Given the description of an element on the screen output the (x, y) to click on. 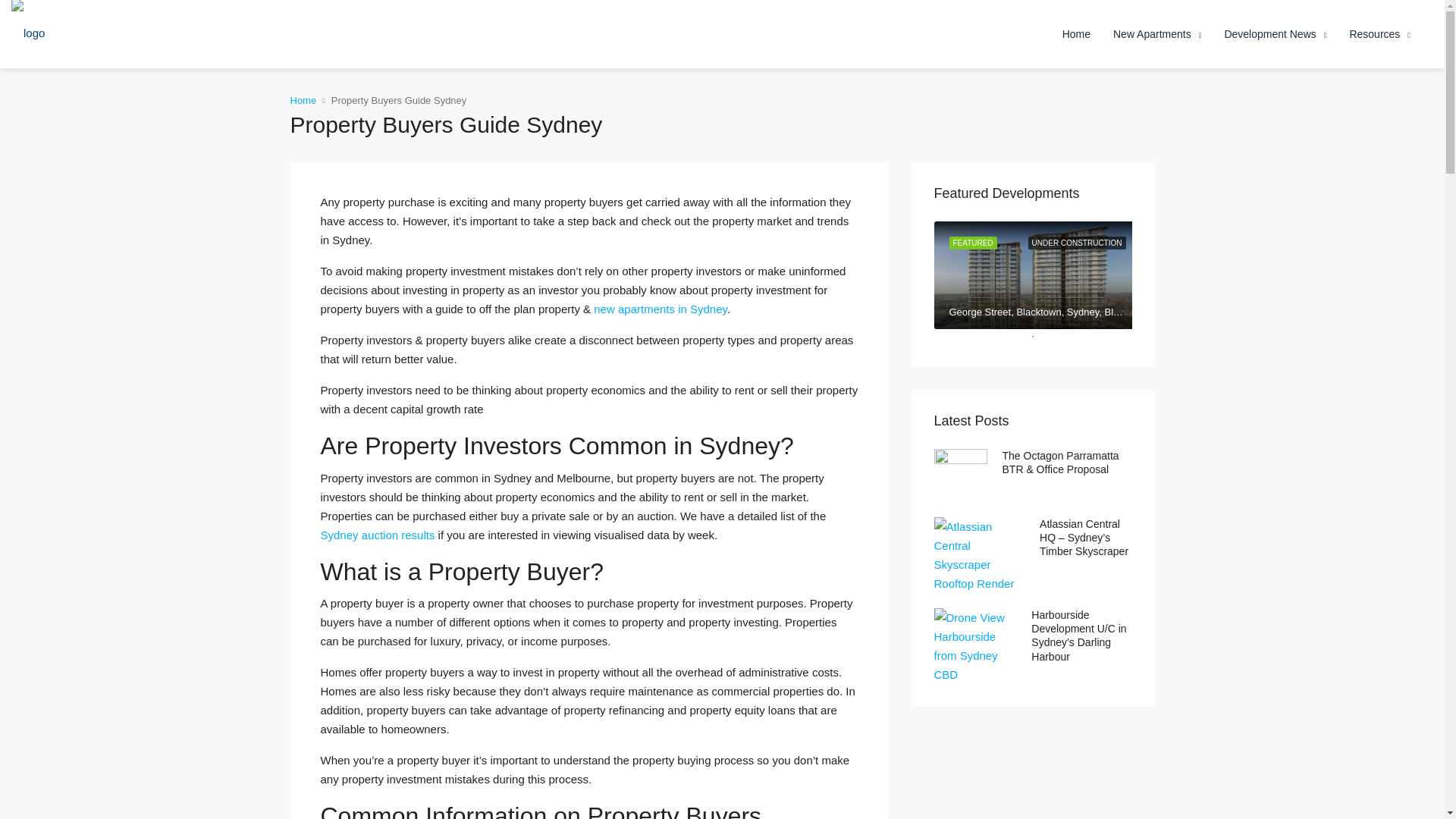
Home (1076, 33)
New Apartments (1157, 34)
Resources (1380, 34)
Development News (1275, 34)
